Given the description of an element on the screen output the (x, y) to click on. 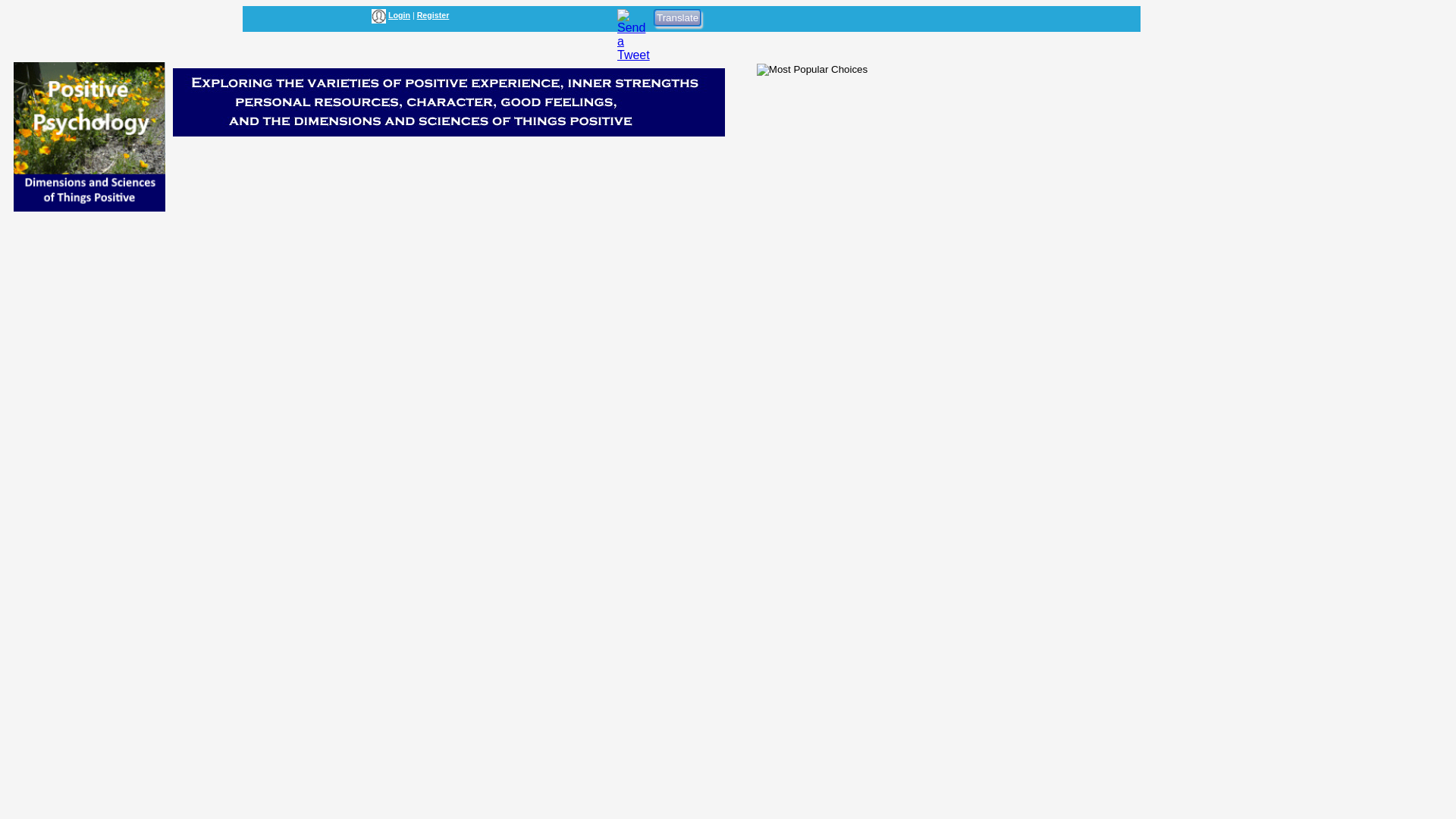
Translate (677, 17)
Login (399, 14)
Register (432, 14)
Translate (677, 17)
